Given the description of an element on the screen output the (x, y) to click on. 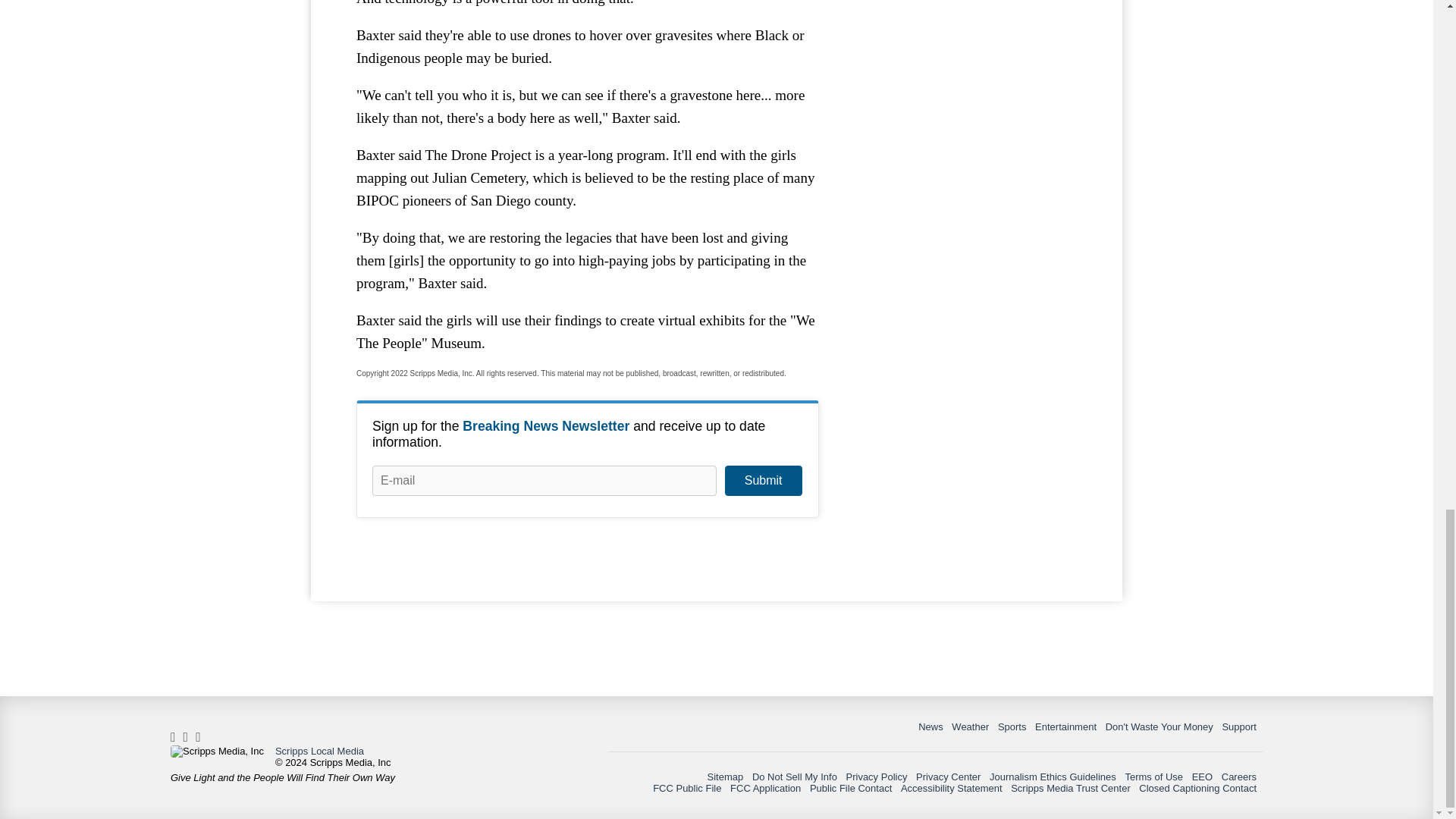
Submit (763, 481)
